Given the description of an element on the screen output the (x, y) to click on. 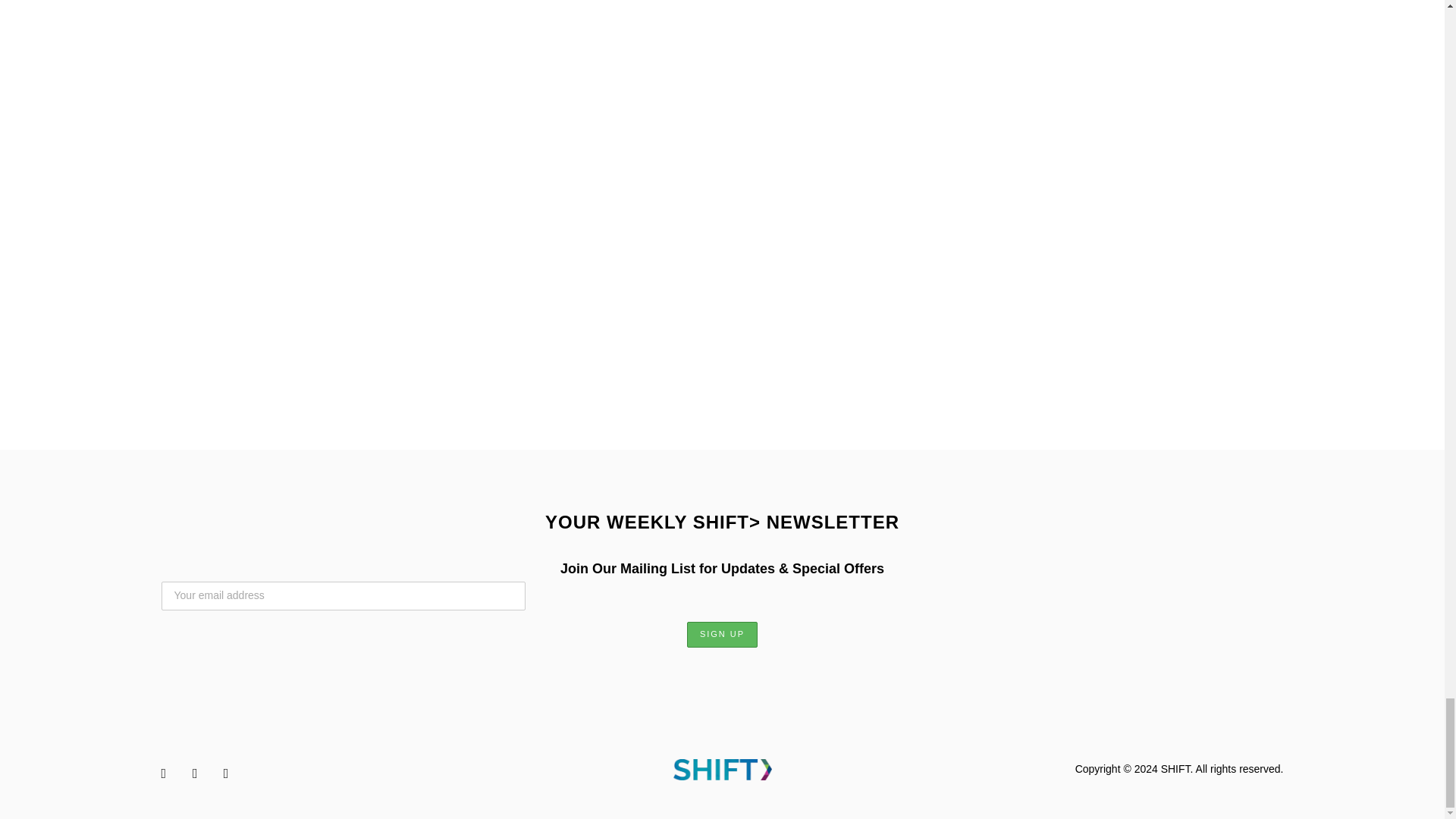
Sign up (722, 634)
